Given the description of an element on the screen output the (x, y) to click on. 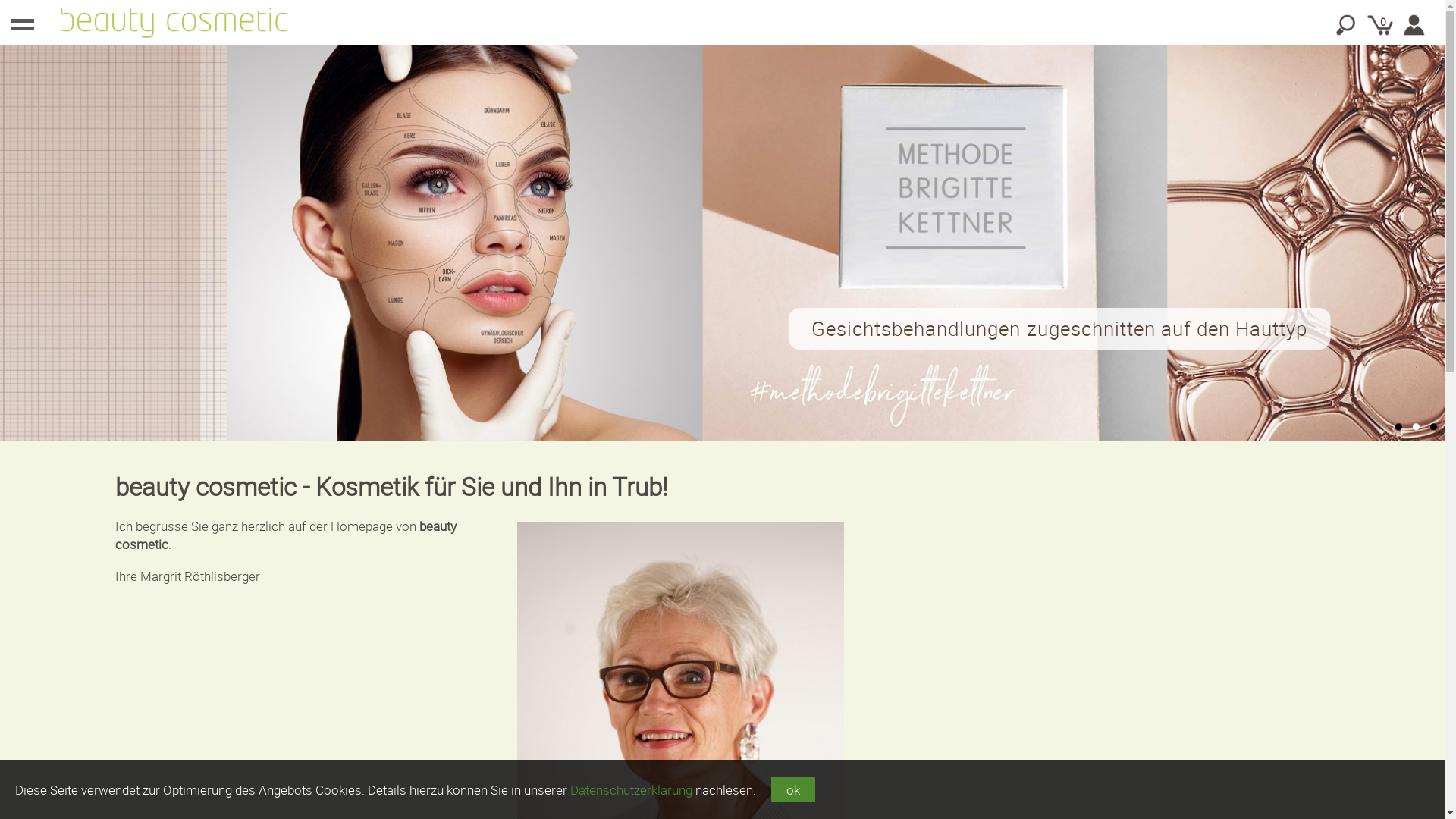
0 Element type: text (1380, 24)
Gesichtsbehandlungen Element type: hover (720, 242)
Benutzerkonto Element type: hover (1414, 24)
ok Element type: text (793, 789)
Suche Element type: hover (1345, 24)
